Given the description of an element on the screen output the (x, y) to click on. 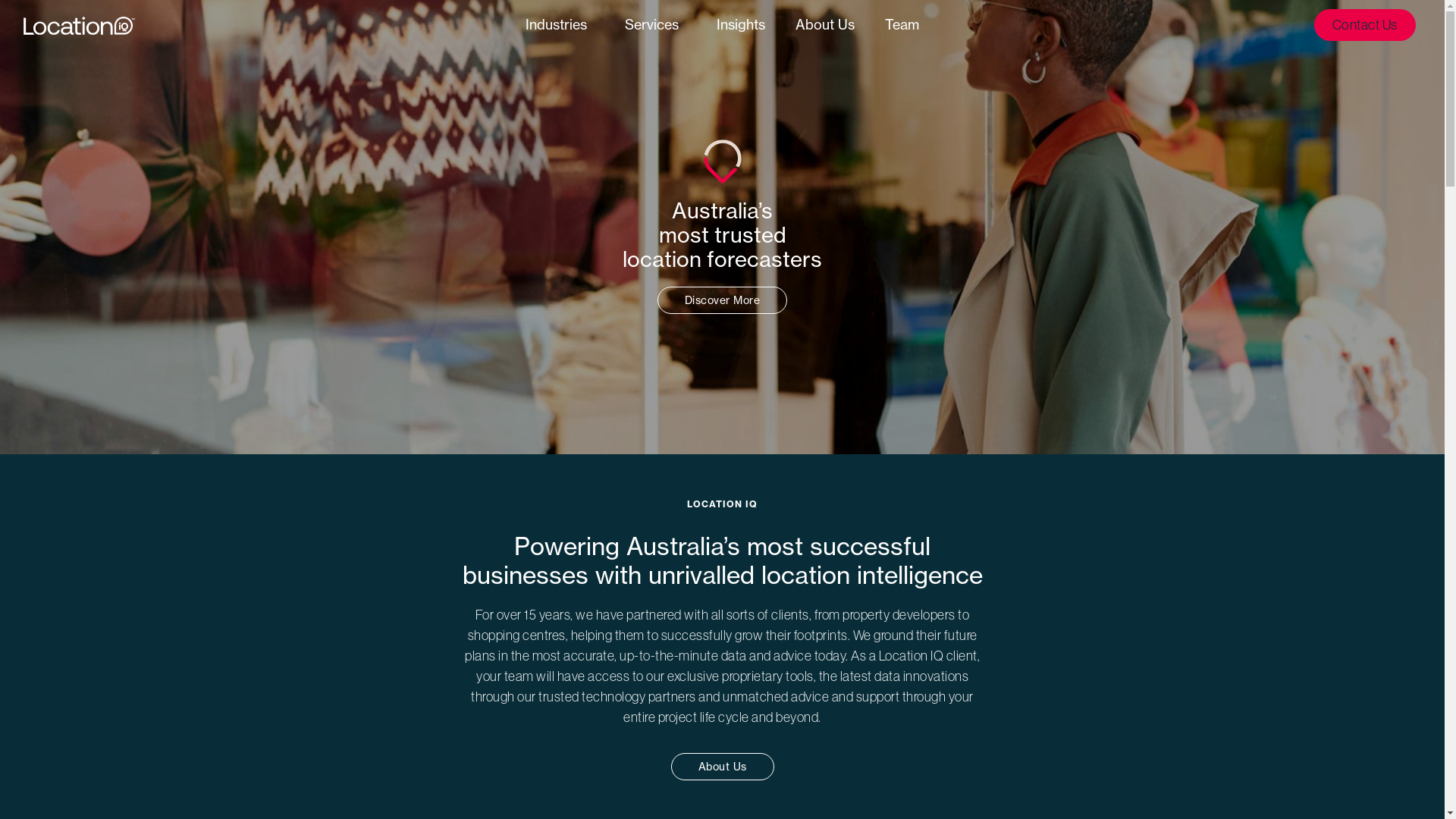
Discover More Element type: text (722, 299)
About Us Element type: text (721, 766)
About Us Element type: text (824, 24)
Team Element type: text (901, 24)
Contact Us Element type: text (1364, 24)
Insights Element type: text (740, 24)
Industries Element type: text (559, 24)
Services Element type: text (655, 24)
